Given the description of an element on the screen output the (x, y) to click on. 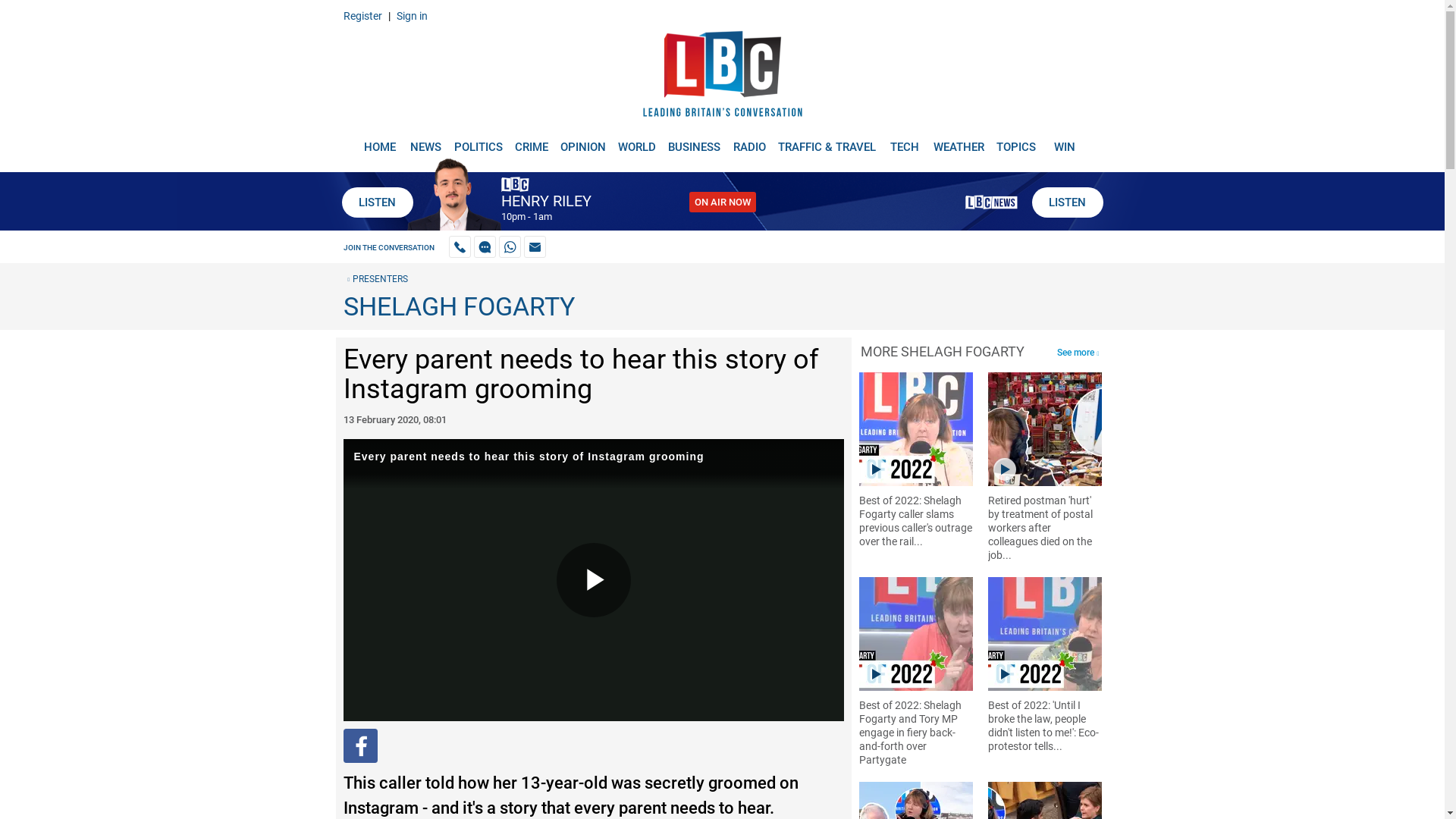
CRIME (531, 140)
NEWS (425, 140)
HOME (379, 140)
Play Video (593, 579)
WEATHER (958, 140)
PRESENTERS (374, 278)
LISTEN (1066, 202)
OPINION (582, 140)
POLITICS (478, 140)
TECH (904, 140)
